Given the description of an element on the screen output the (x, y) to click on. 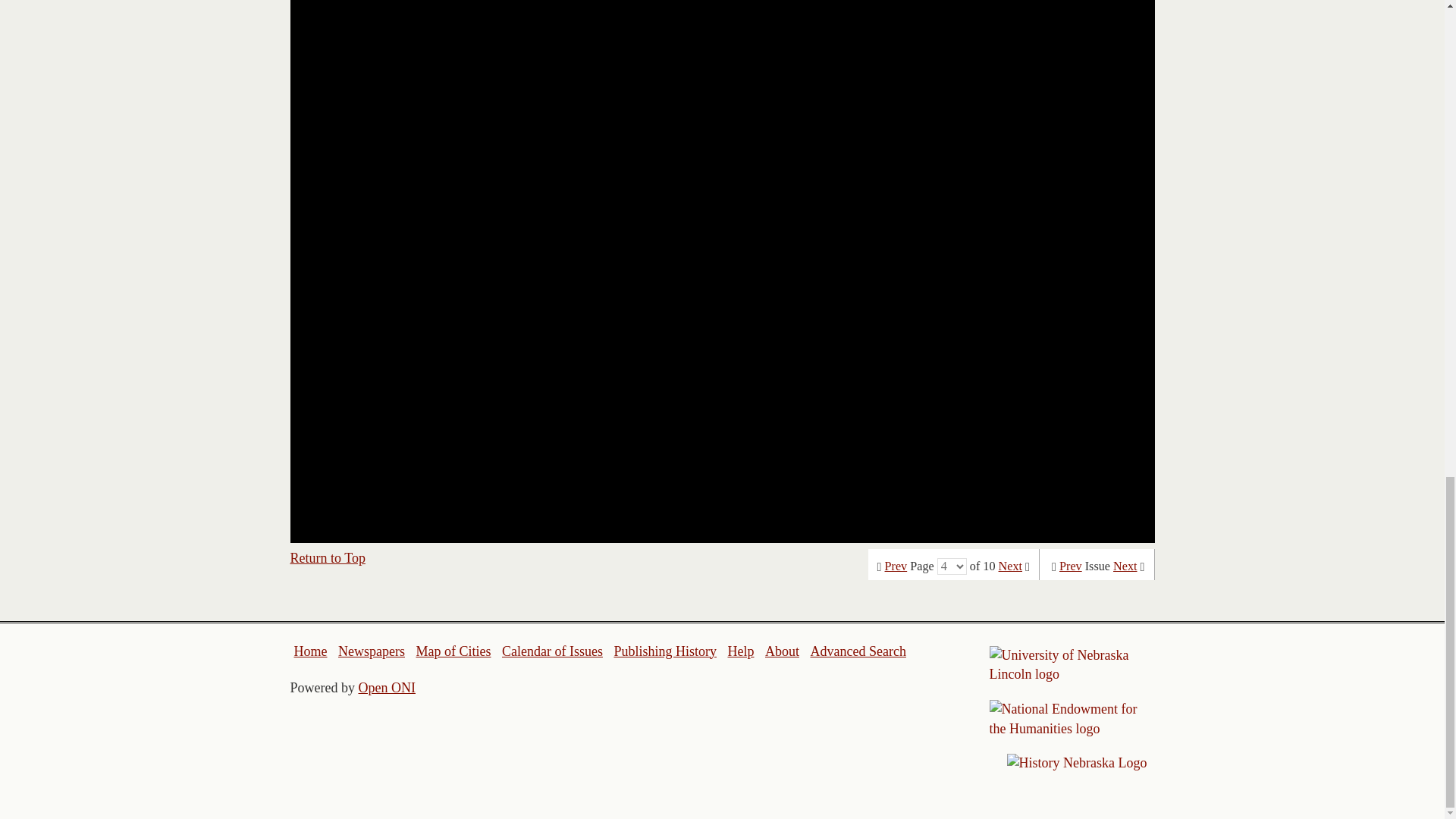
Map of Cities (452, 651)
Open ONI (386, 687)
Next (1010, 566)
Help (740, 651)
Newspapers (370, 651)
Next (1125, 566)
Return to Top (327, 557)
About (782, 651)
Advanced Search (857, 651)
Prev (1070, 566)
